Given the description of an element on the screen output the (x, y) to click on. 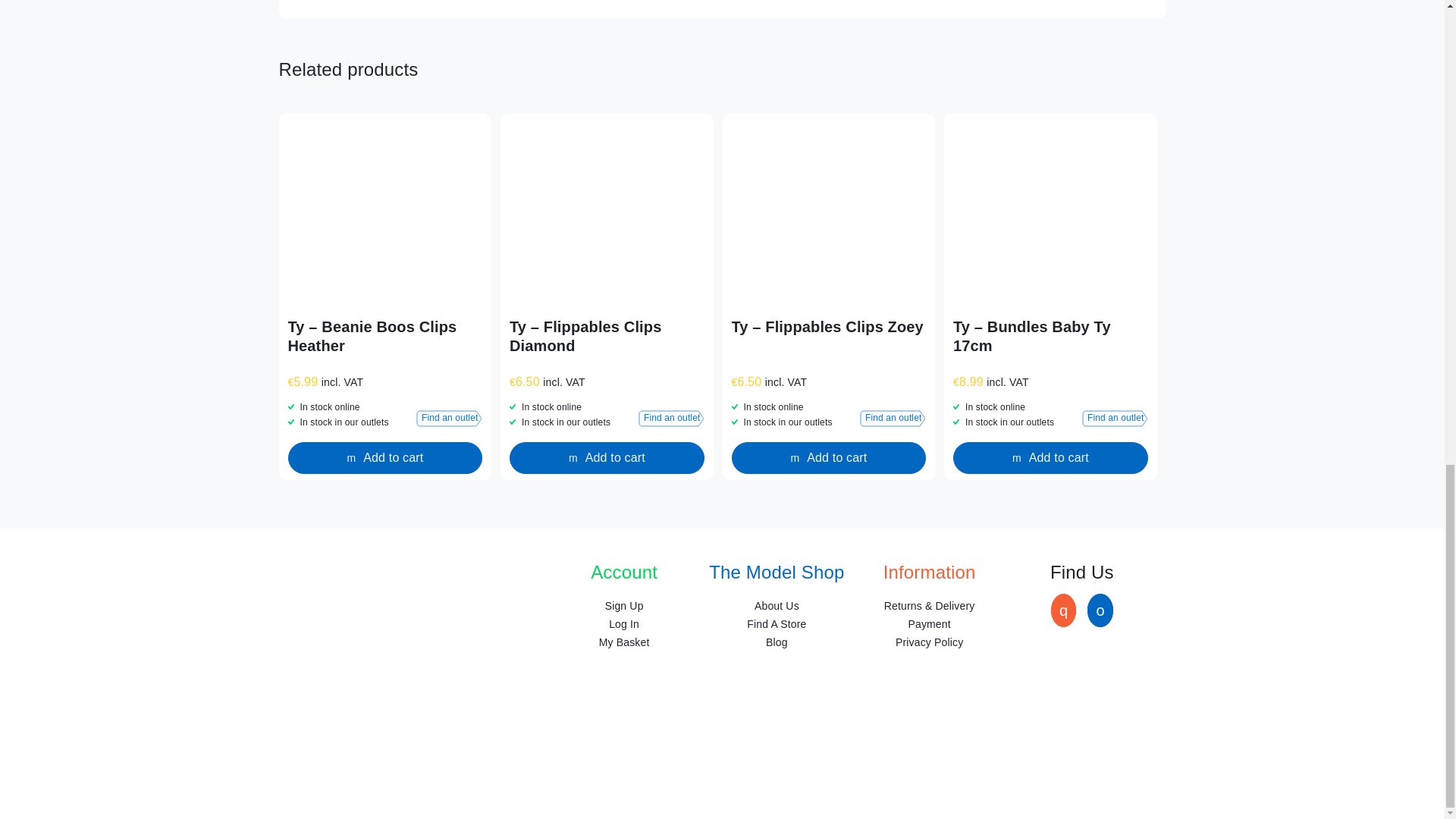
Find an outlet (671, 418)
Find an outlet (1114, 418)
Find an outlet (893, 418)
Find an outlet (448, 418)
